Given the description of an element on the screen output the (x, y) to click on. 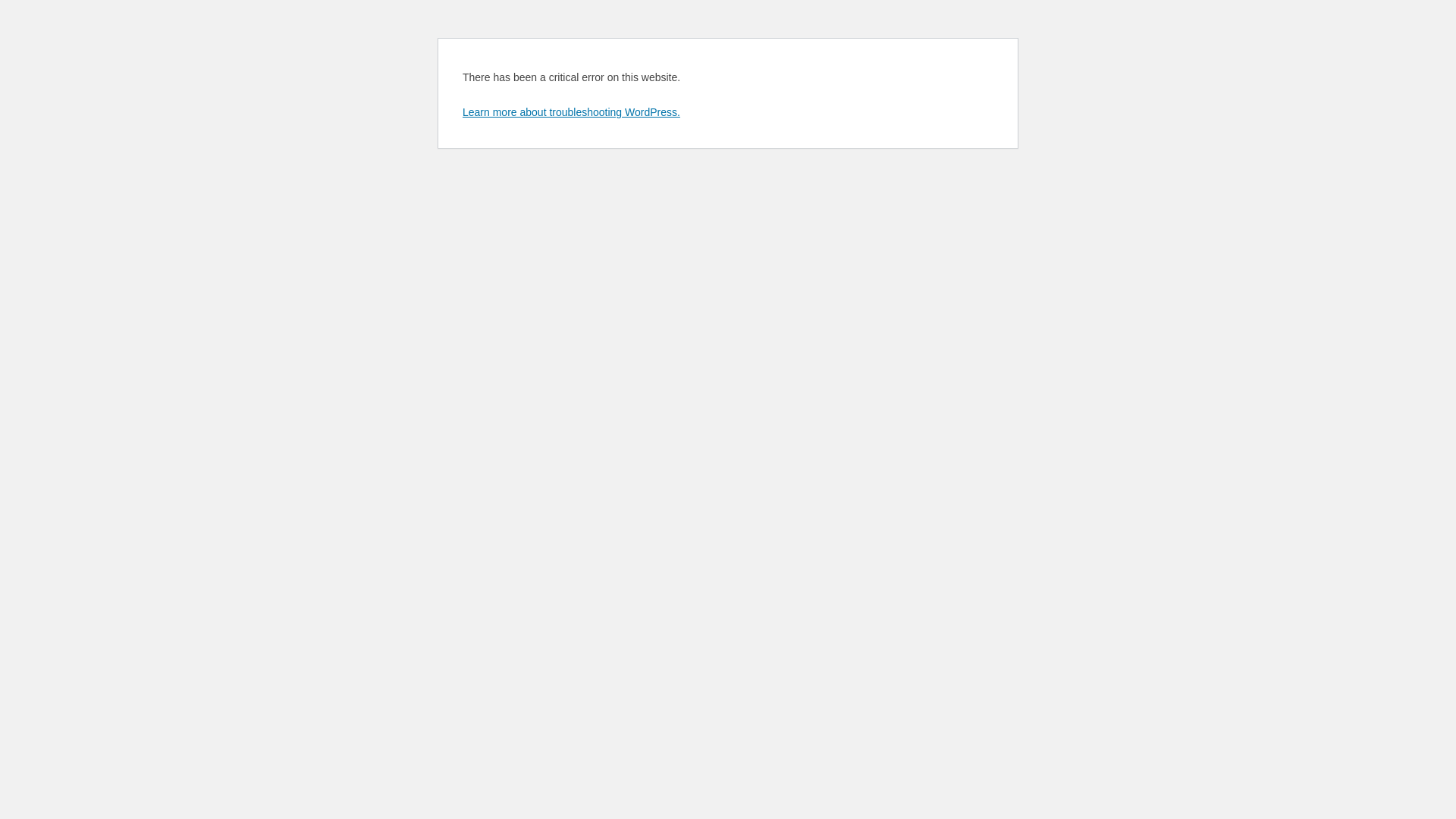
Learn more about troubleshooting WordPress. Element type: text (571, 112)
